Given the description of an element on the screen output the (x, y) to click on. 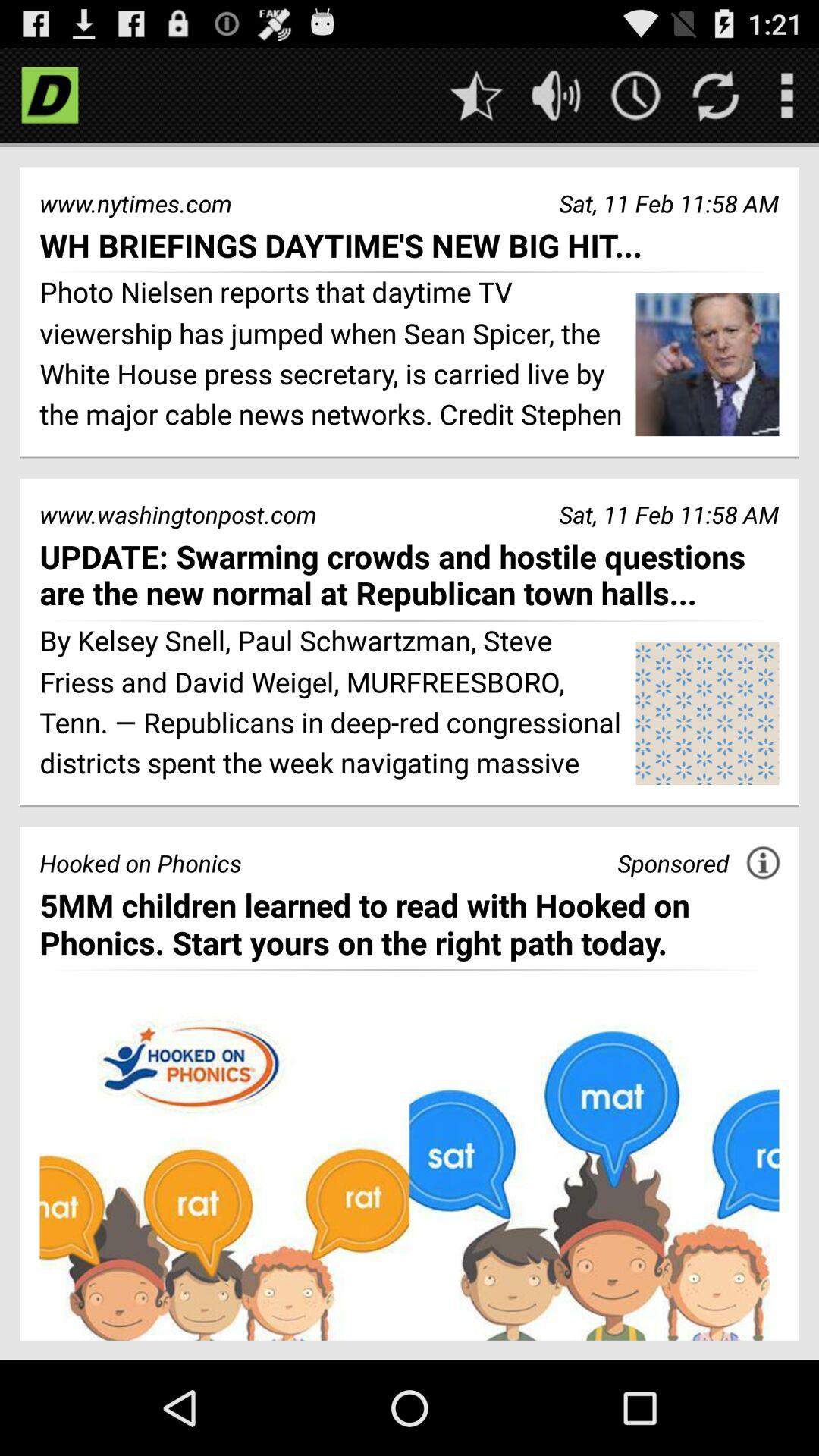
press the item above 5mm children learned icon (673, 862)
